Given the description of an element on the screen output the (x, y) to click on. 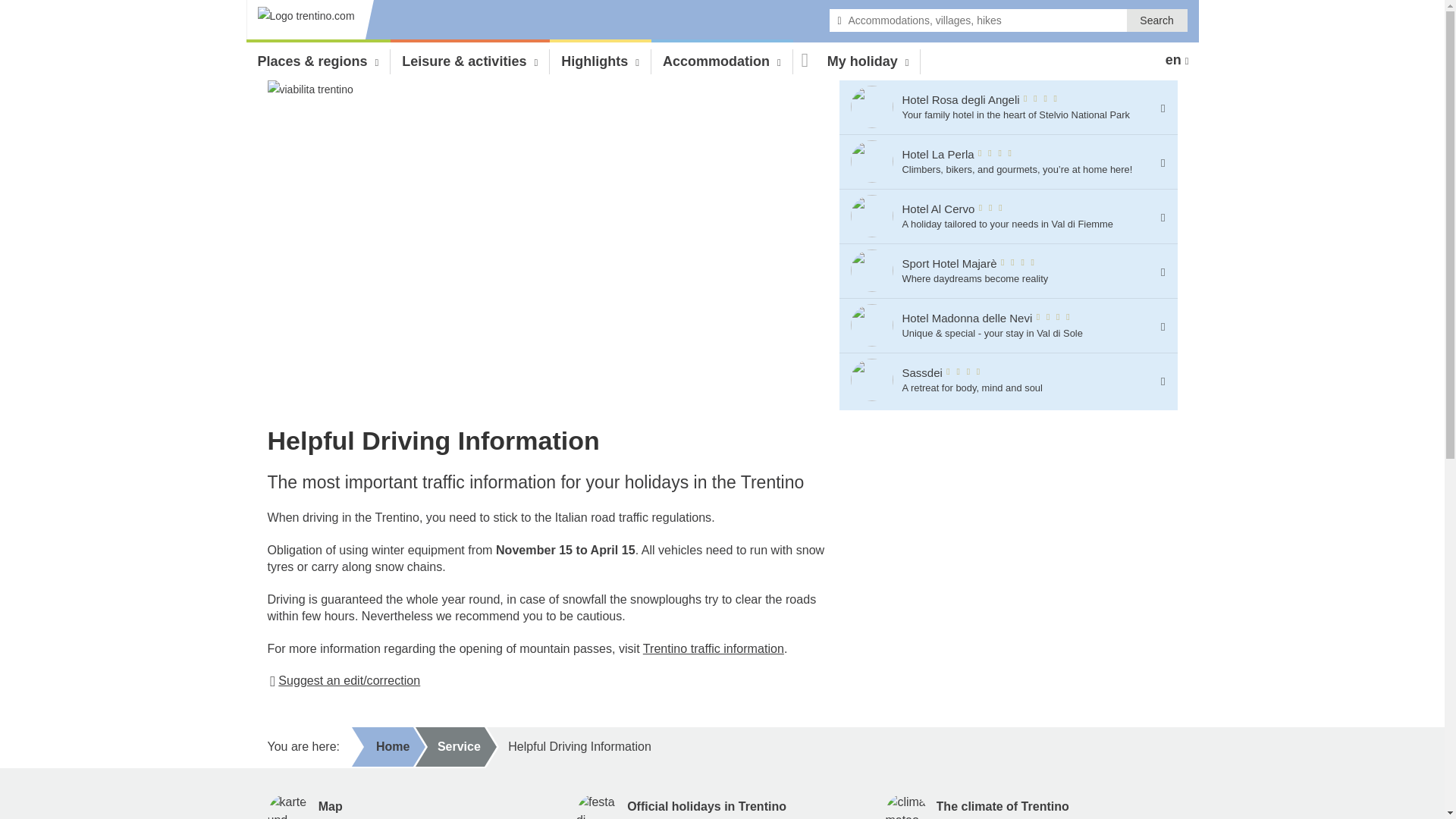
Climbers, bikers, and gourmets, you're at home here! (871, 162)
Trentino (310, 21)
Trentino traffic information (713, 648)
A holiday tailored to your needs in Val di Fiemme (999, 379)
Where daydreams become reality (871, 216)
Clima e meteo del Trentino (871, 271)
A retreat for body, mind and soul (906, 806)
Karte und Anfahrt Trentino (871, 380)
Your family hotel in the heart of Stelvio National Park (287, 806)
